Given the description of an element on the screen output the (x, y) to click on. 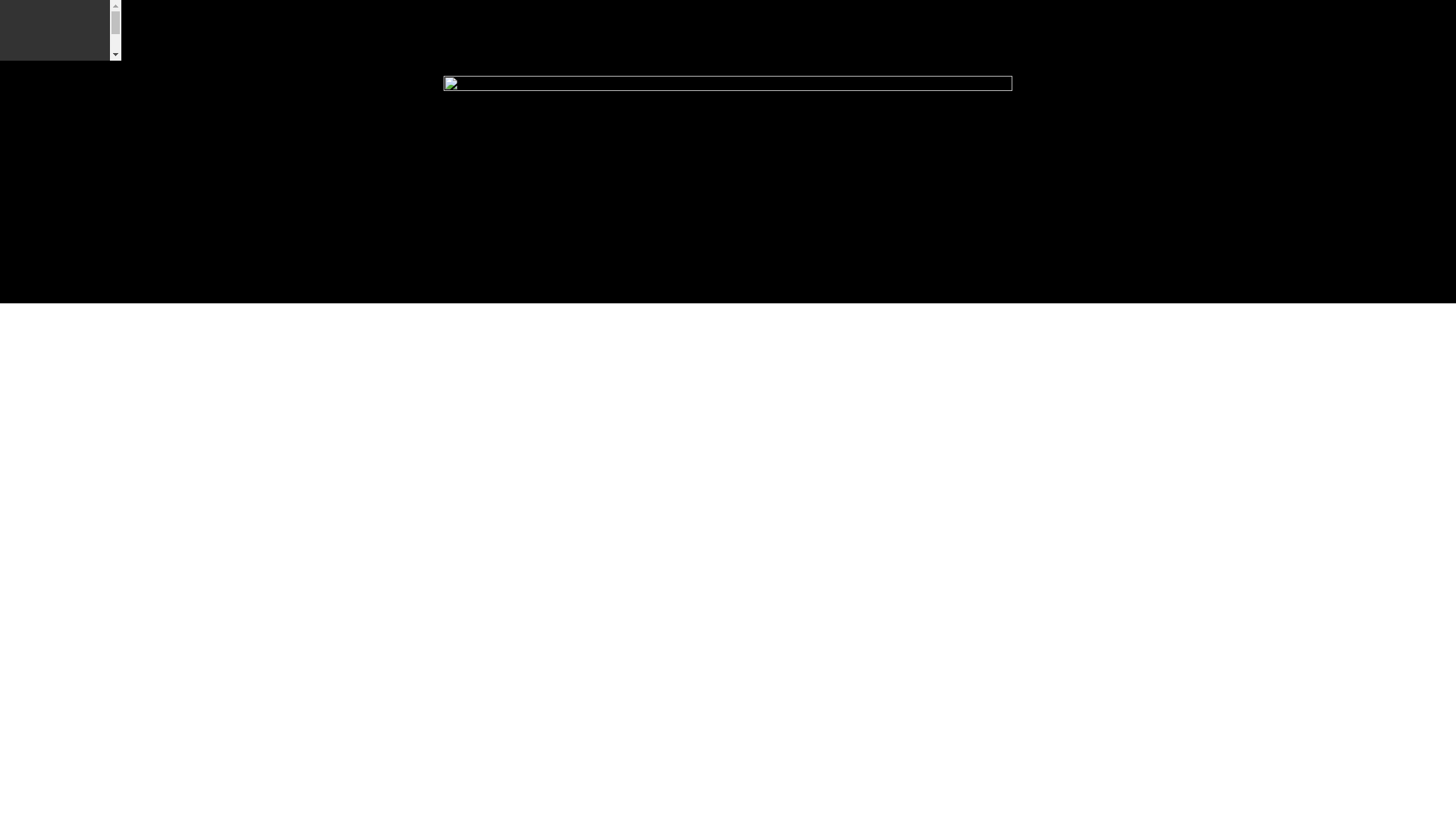
GAME GUIDE (20, 189)
SPOTLIGHT (16, 300)
COMMUNITY (20, 410)
UPDATES (11, 134)
EVENTS (8, 244)
TayTron (545, 394)
CALENDAR (16, 355)
NEWS (957, 394)
